Given the description of an element on the screen output the (x, y) to click on. 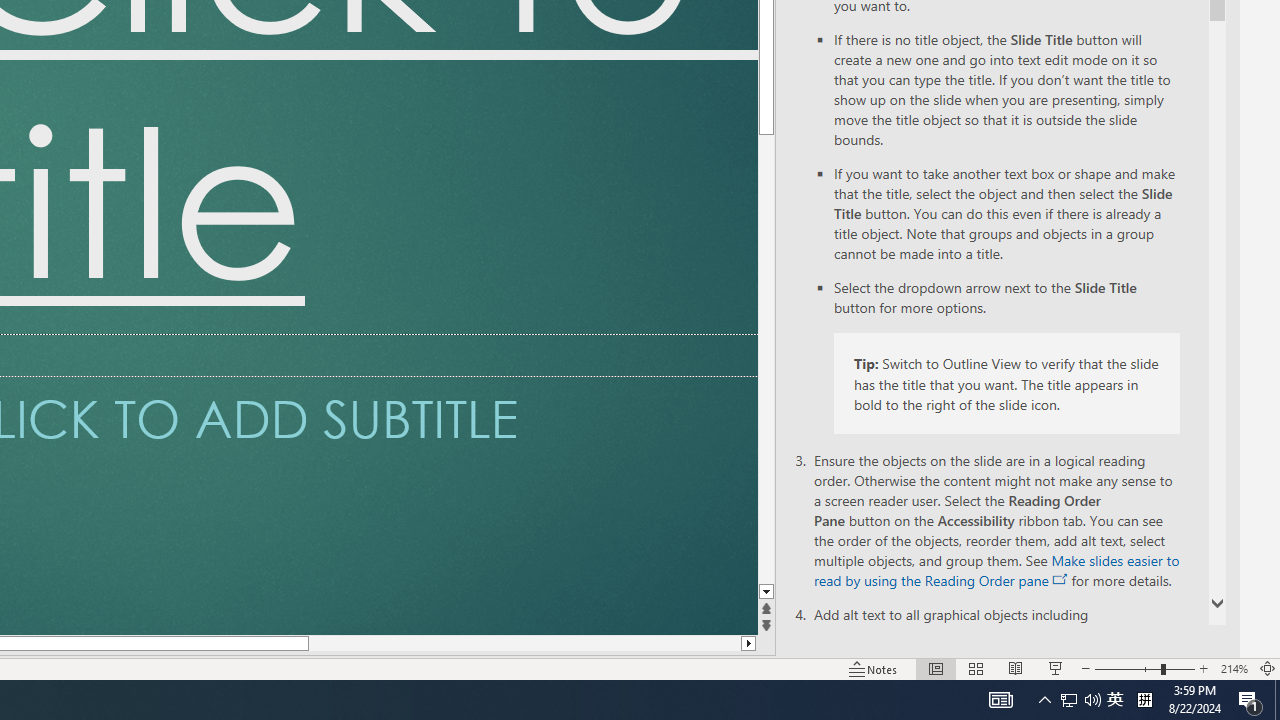
openinnewwindow (1060, 579)
